Given the description of an element on the screen output the (x, y) to click on. 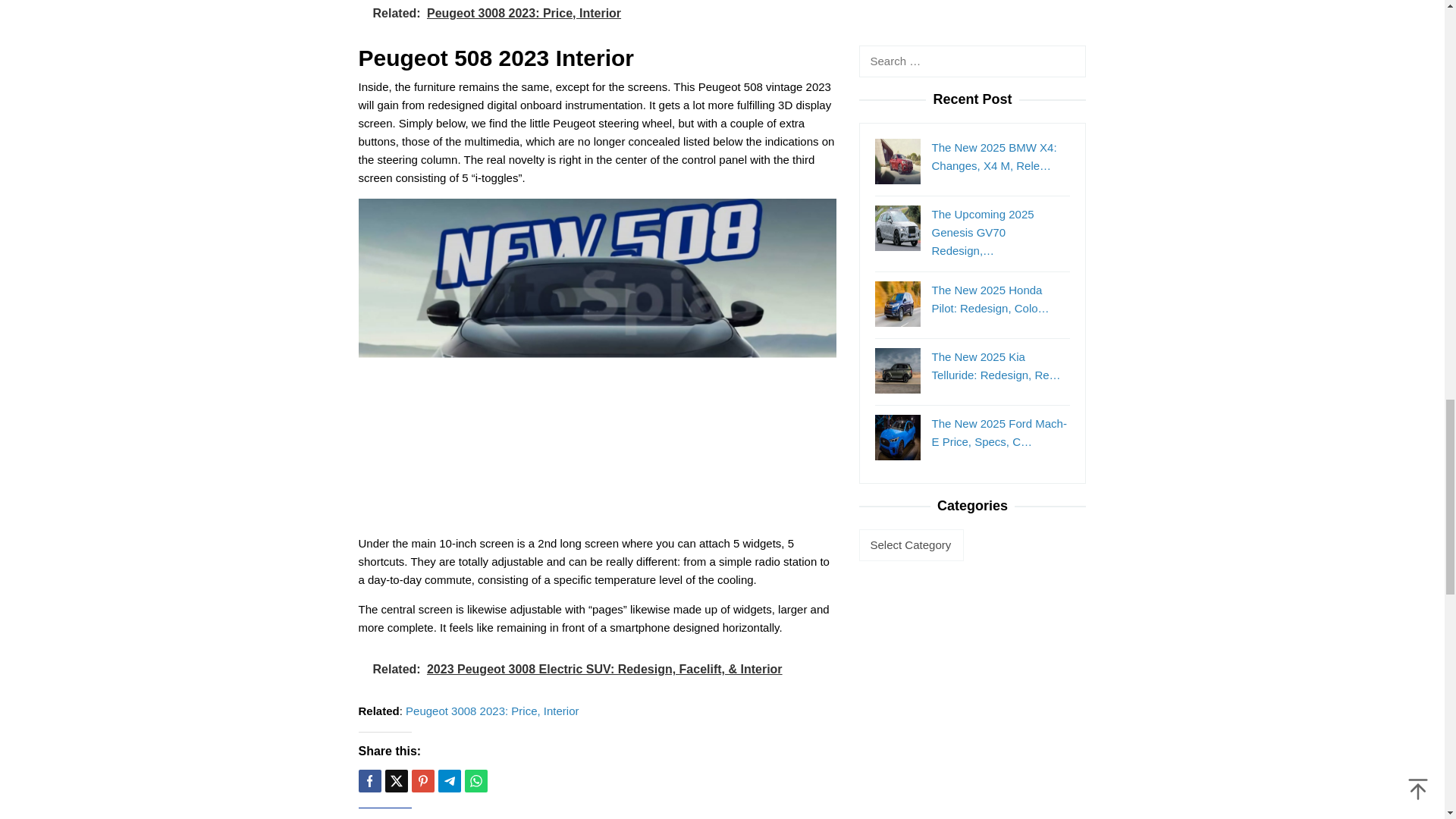
Share this (369, 780)
Pin this (421, 780)
Whatsapp (475, 780)
Telegram Share (449, 780)
Tweet this (396, 780)
